Given the description of an element on the screen output the (x, y) to click on. 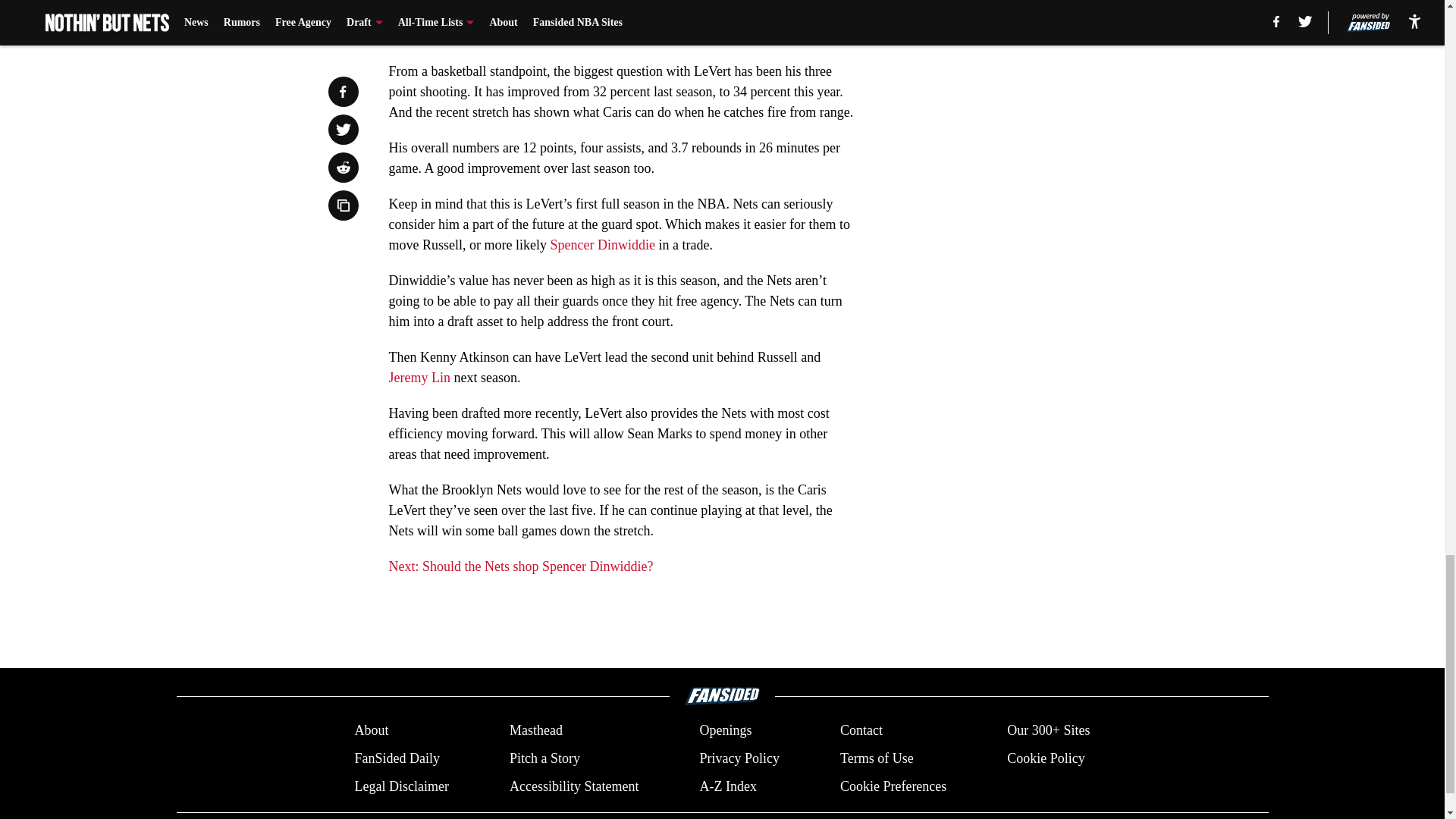
Jeremy Lin (418, 377)
Next: Should the Nets shop Spencer Dinwiddie? (520, 566)
Spencer Dinwiddie (601, 244)
Openings (724, 730)
Masthead (535, 730)
Contact (861, 730)
About (370, 730)
